Given the description of an element on the screen output the (x, y) to click on. 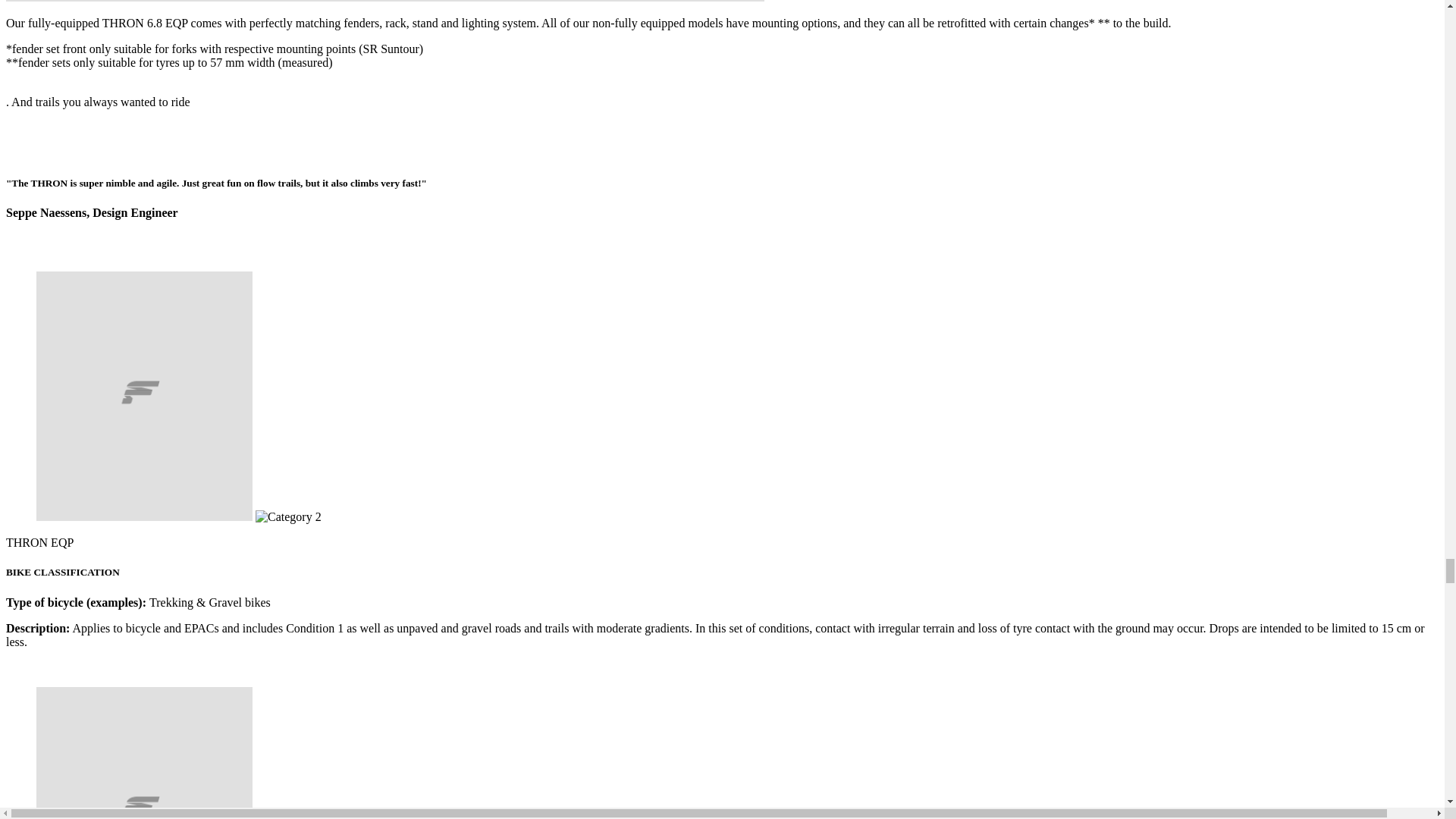
Category 2 (288, 517)
